Given the description of an element on the screen output the (x, y) to click on. 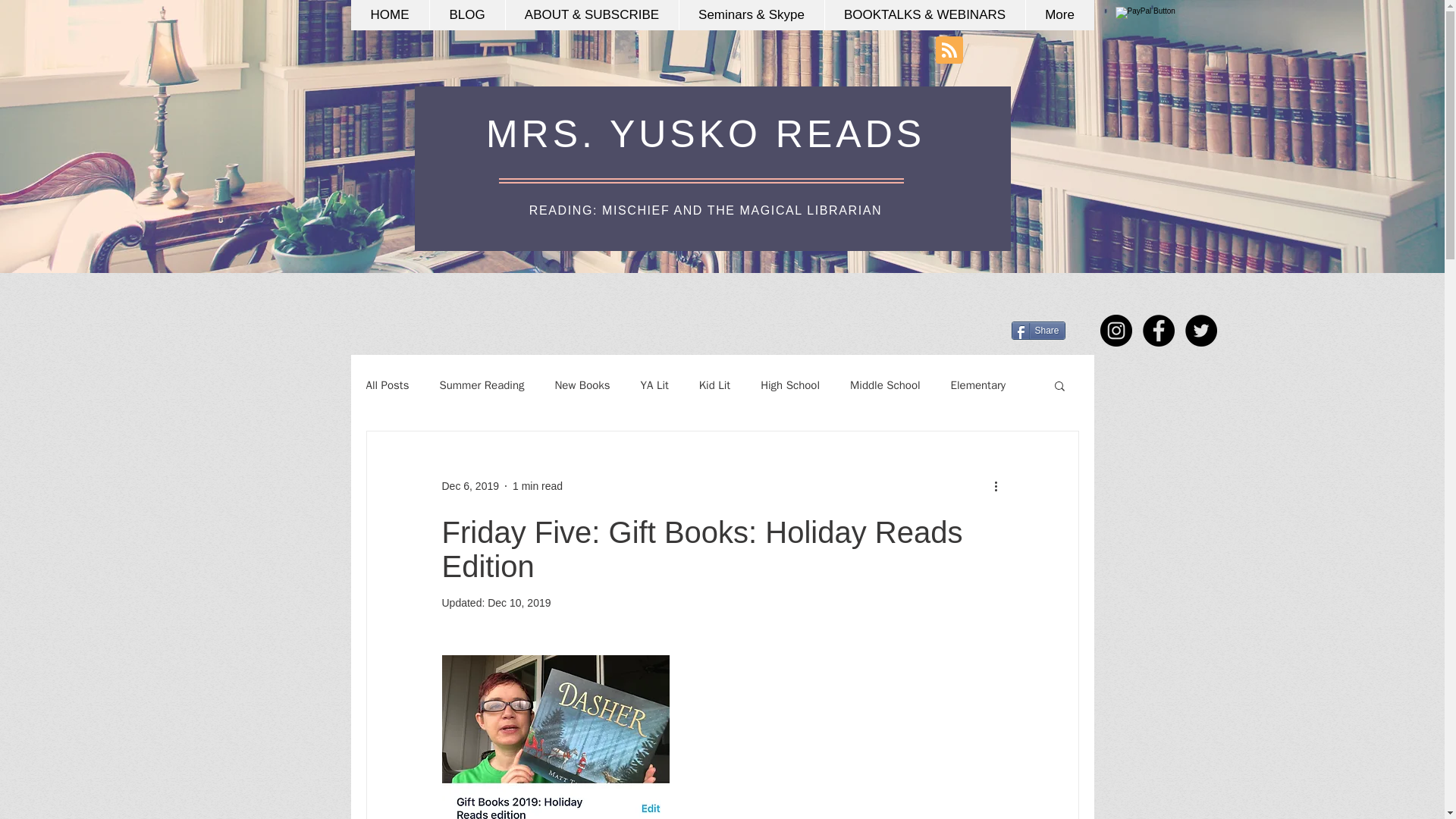
High School (789, 384)
MRS. YUSKO READS (705, 134)
YA Lit (654, 384)
New Books (582, 384)
Share (1038, 330)
Share (1038, 330)
Middle School (885, 384)
Dec 10, 2019 (518, 603)
Dec 6, 2019 (470, 485)
All Posts (387, 384)
Summer Reading (481, 384)
READING: MISCHIEF AND THE MAGICAL LIBRARIAN (705, 210)
HOME (389, 15)
Elementary (978, 384)
Kid Lit (714, 384)
